Given the description of an element on the screen output the (x, y) to click on. 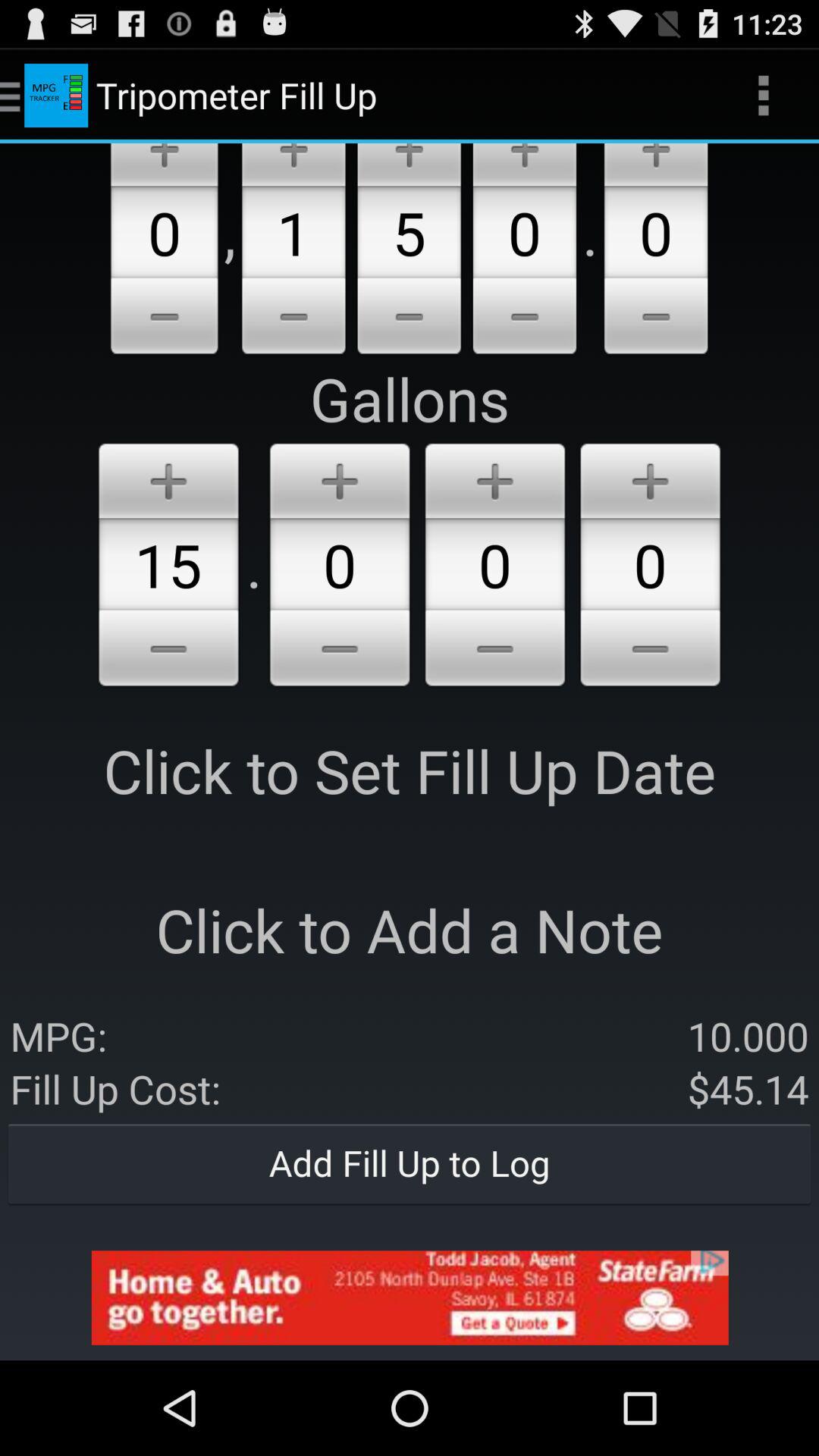
menu button (339, 651)
